Given the description of an element on the screen output the (x, y) to click on. 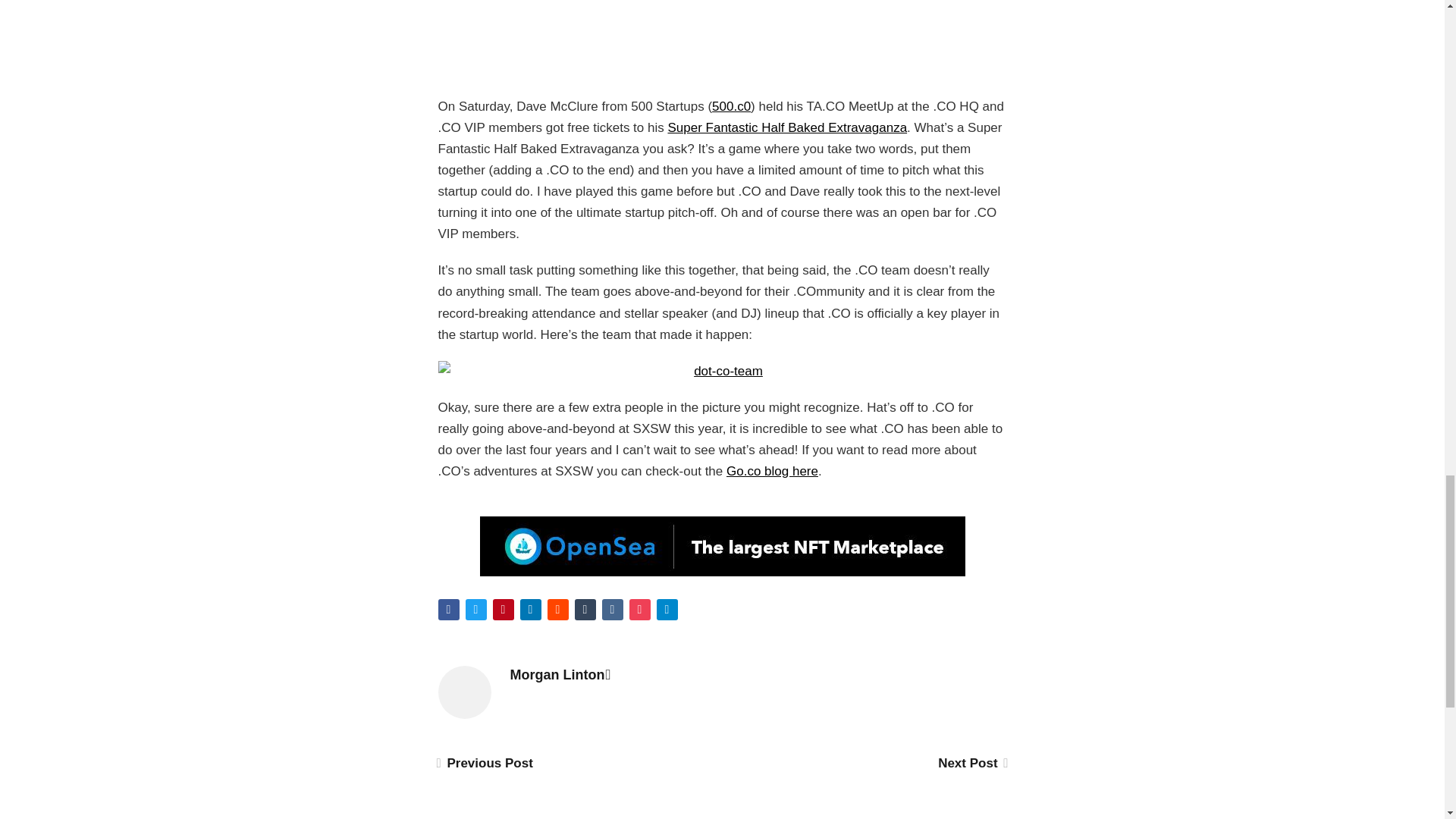
500.c0 (731, 106)
Next Post (971, 762)
Go.co blog here (772, 471)
Super Fantastic Half Baked Extravaganza (786, 127)
Previous Post (485, 762)
